Given the description of an element on the screen output the (x, y) to click on. 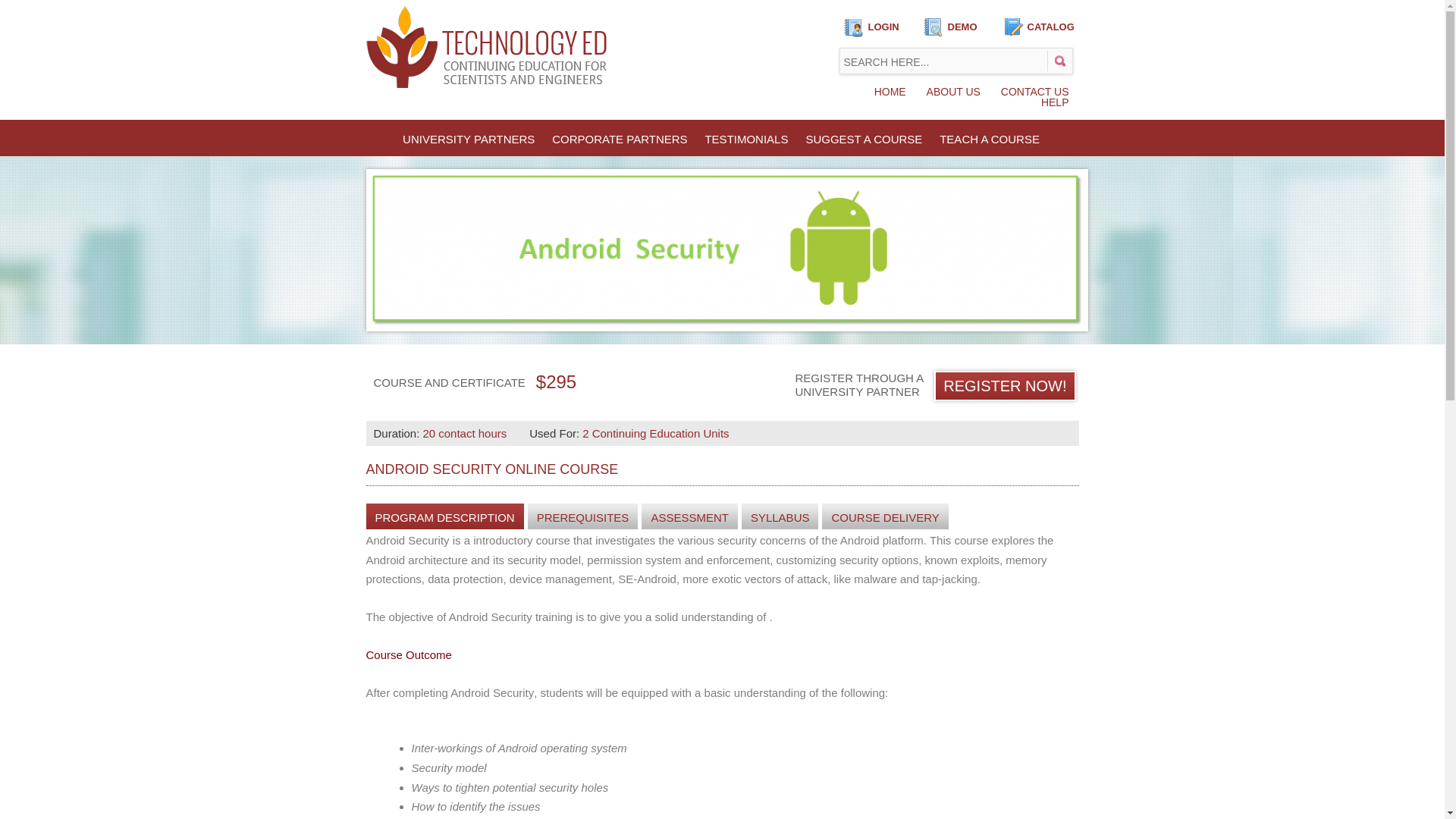
CATALOG (1050, 26)
DEMO (961, 26)
ABOUT US (953, 91)
UNIVERSITY PARTNERS (468, 139)
LOGIN (882, 26)
TESTIMONIALS (745, 139)
ASSESSMENT (690, 517)
SYLLABUS (779, 517)
TEACH A COURSE (989, 139)
Skip to content (400, 132)
HELP (1055, 102)
CORPORATE PARTNERS (619, 139)
REGISTER NOW! (1004, 367)
PREREQUISITES (583, 517)
HOME (890, 91)
